Given the description of an element on the screen output the (x, y) to click on. 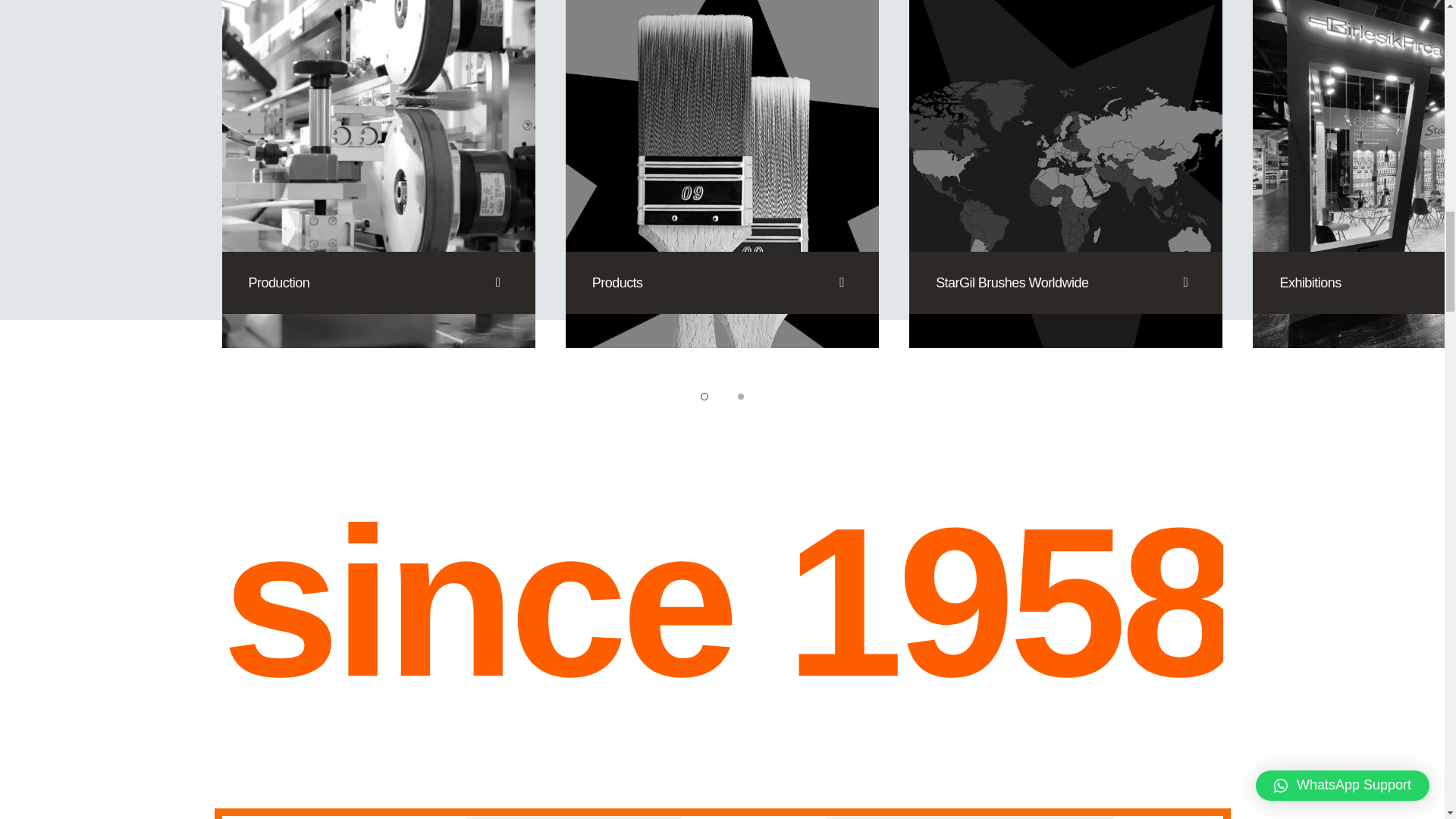
Homepage-Banners-Template-11 (722, 174)
Homepage-Banners-Template13 (722, 174)
Homepage-Banners-Template12 (1065, 174)
